Given the description of an element on the screen output the (x, y) to click on. 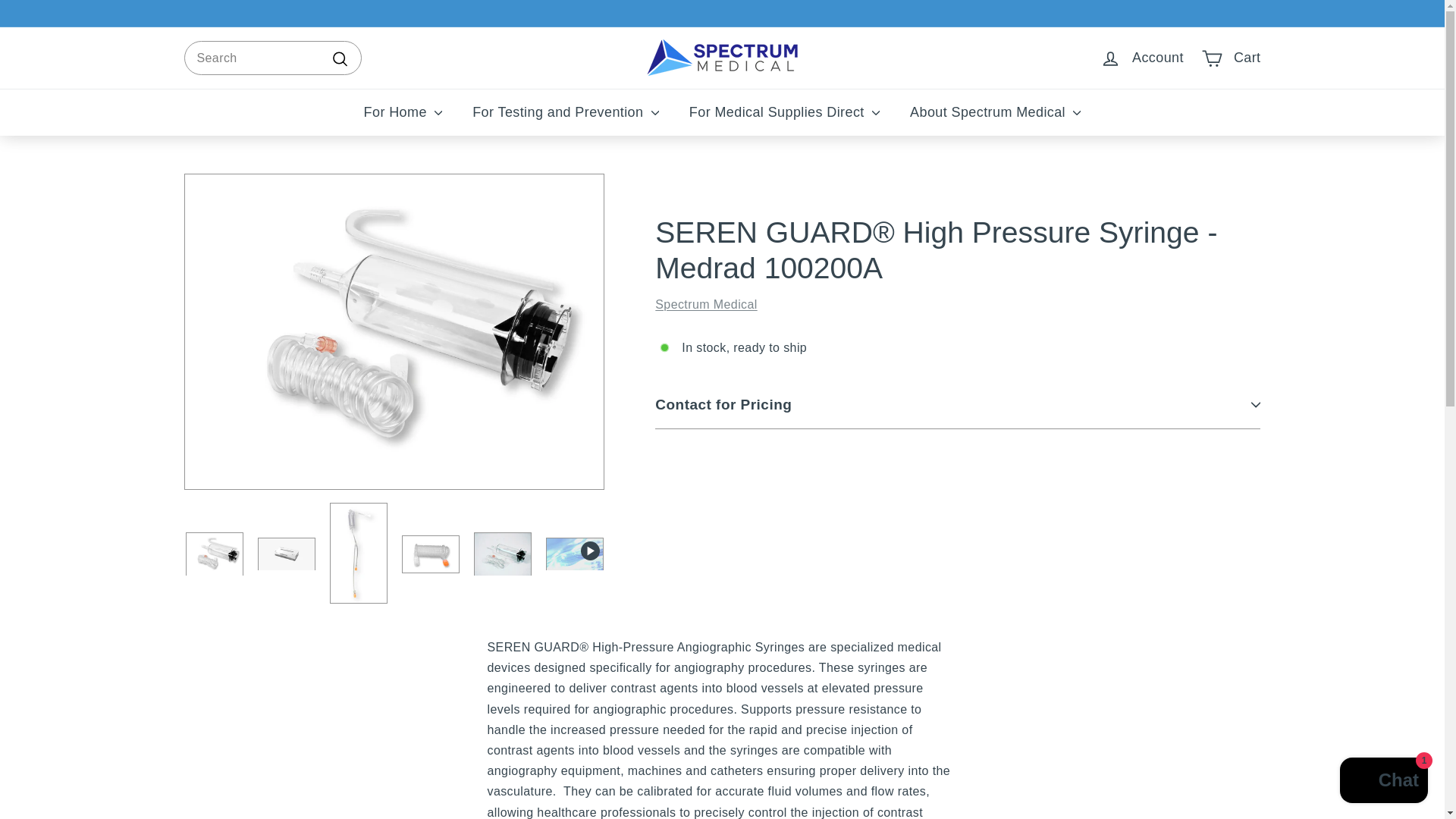
Shopify online store chat (1383, 781)
Account (1141, 57)
Cart (1230, 57)
Spectrum Medical (706, 304)
